Given the description of an element on the screen output the (x, y) to click on. 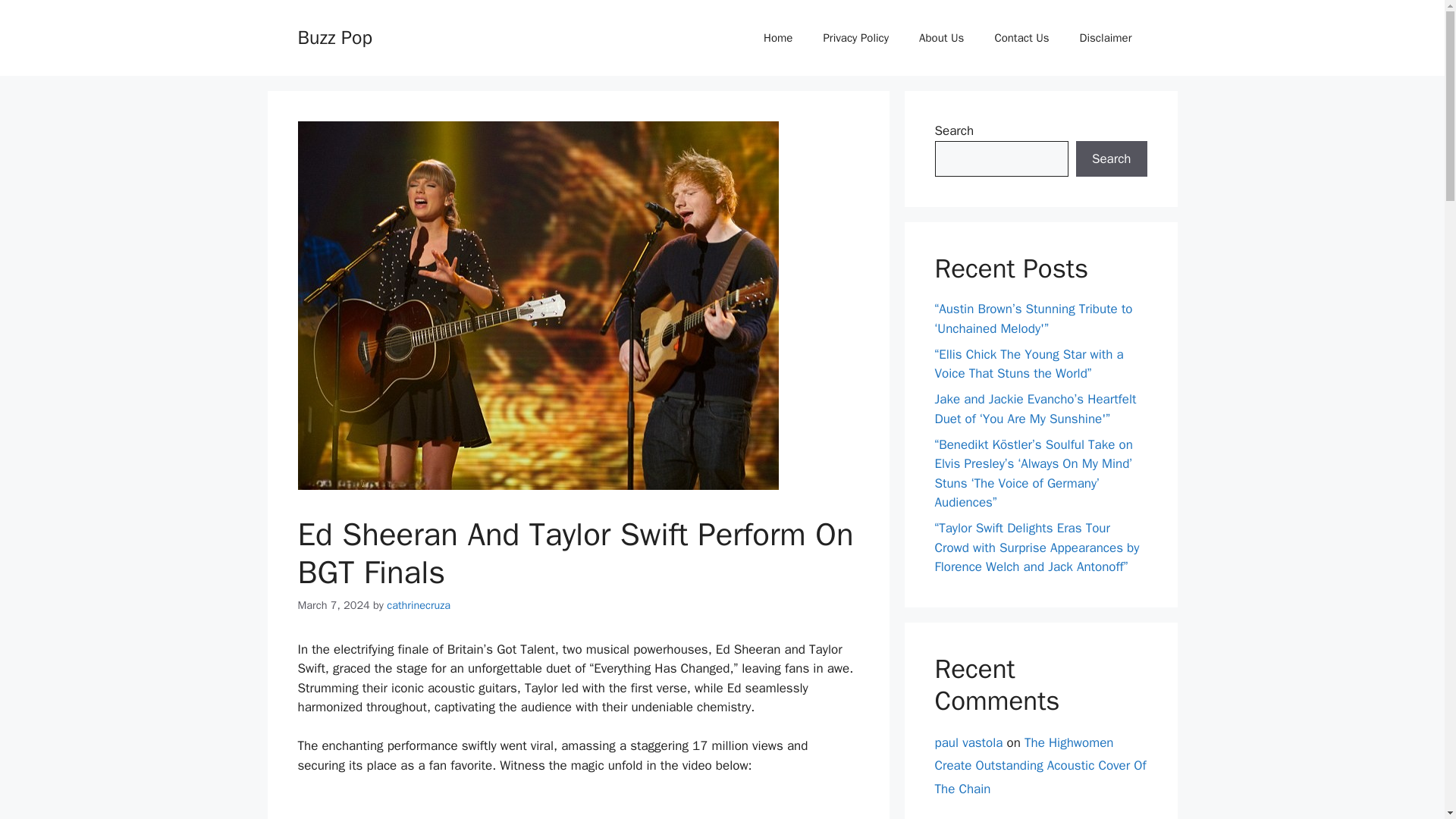
Home (778, 37)
paul vastola (968, 741)
About Us (941, 37)
View all posts by cathrinecruza (418, 604)
Buzz Pop (334, 37)
Disclaimer (1105, 37)
The Highwomen Create Outstanding Acoustic Cover Of The Chain (1039, 764)
cathrinecruza (418, 604)
Privacy Policy (856, 37)
Search (1111, 158)
